Given the description of an element on the screen output the (x, y) to click on. 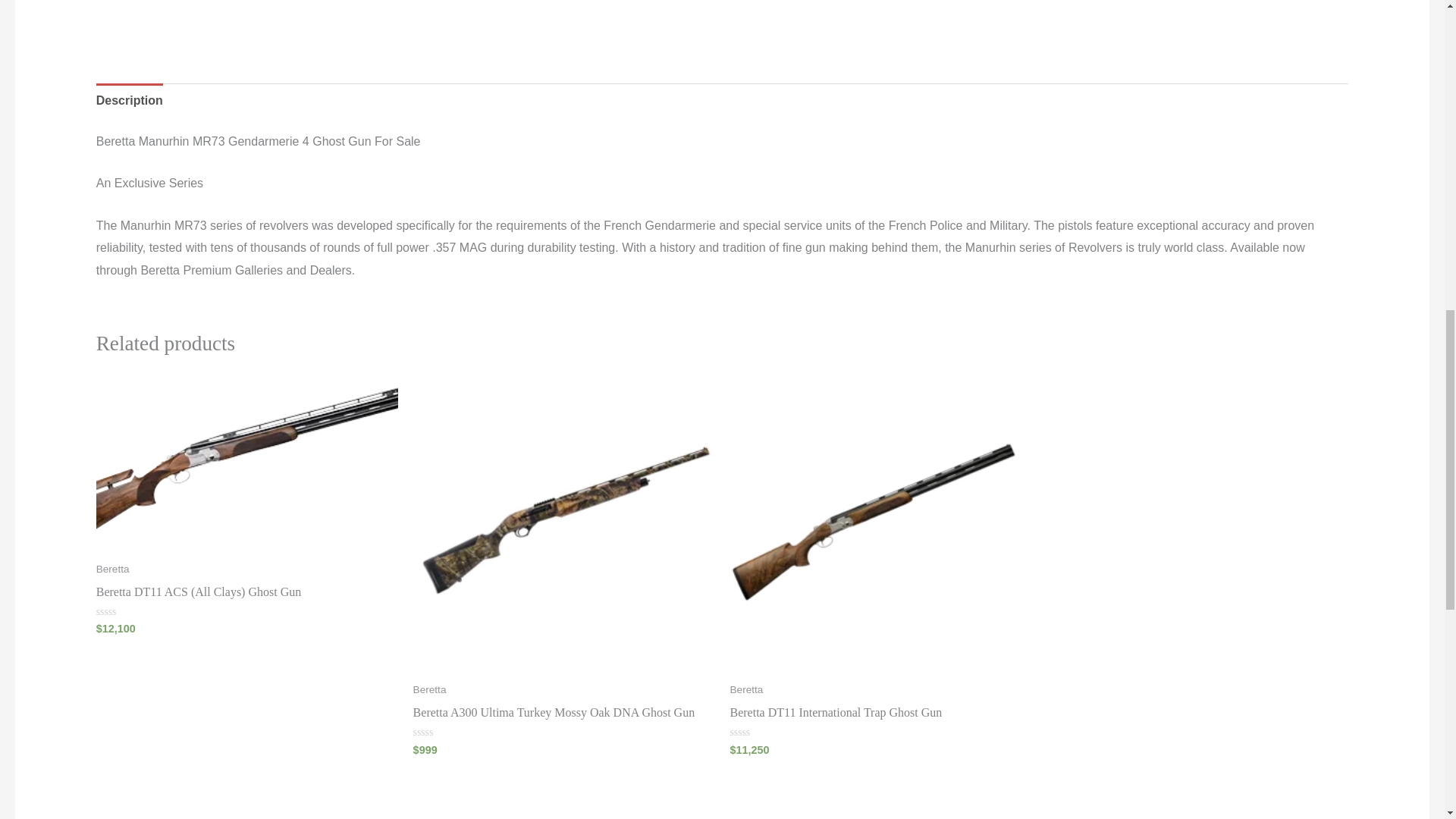
Beretta DT11 International Trap Ghost Gun (879, 716)
Description (129, 100)
Beretta A300 Ultima Turkey Mossy Oak DNA Ghost Gun (563, 716)
